Given the description of an element on the screen output the (x, y) to click on. 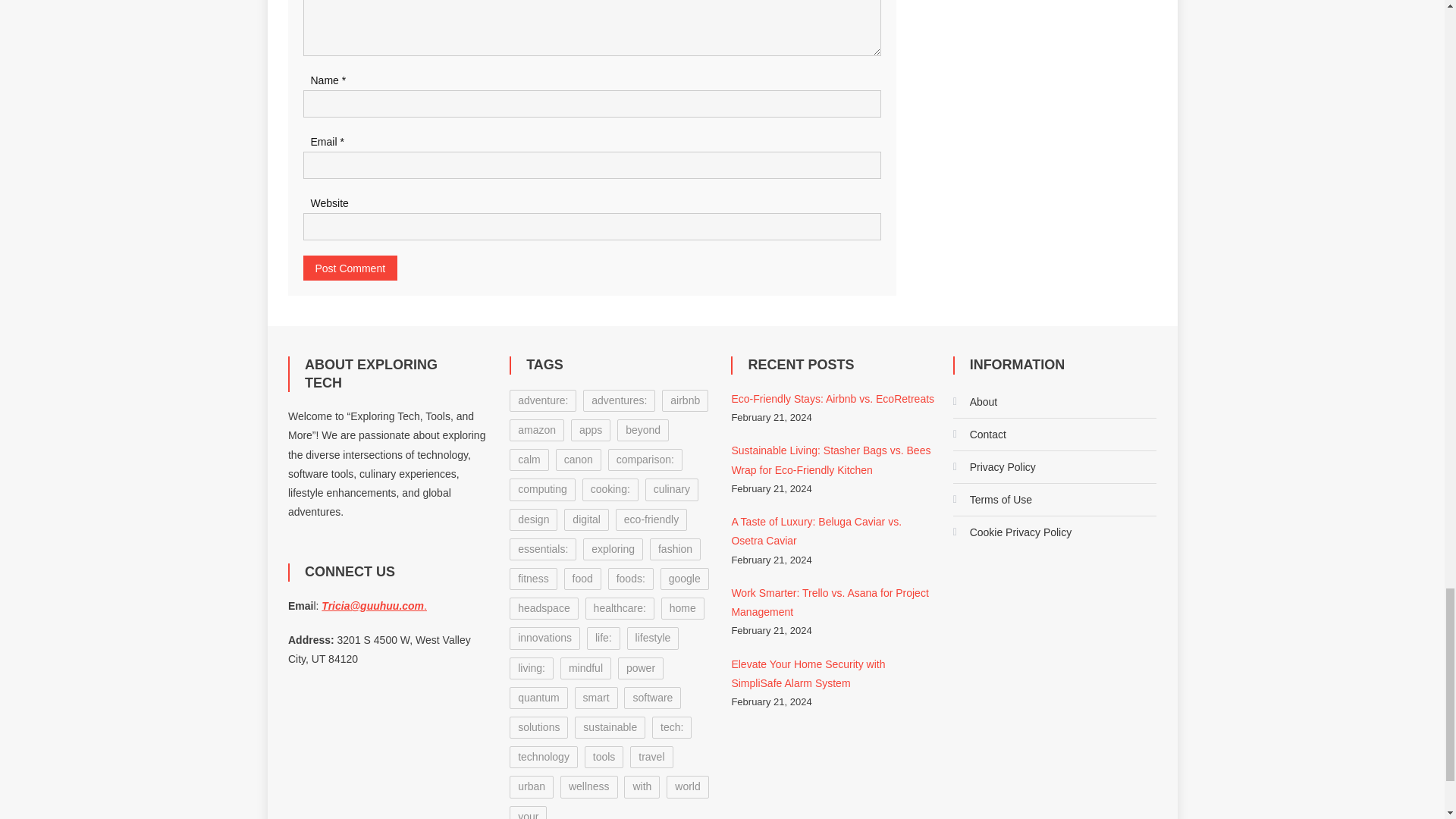
Post Comment (349, 267)
